Given the description of an element on the screen output the (x, y) to click on. 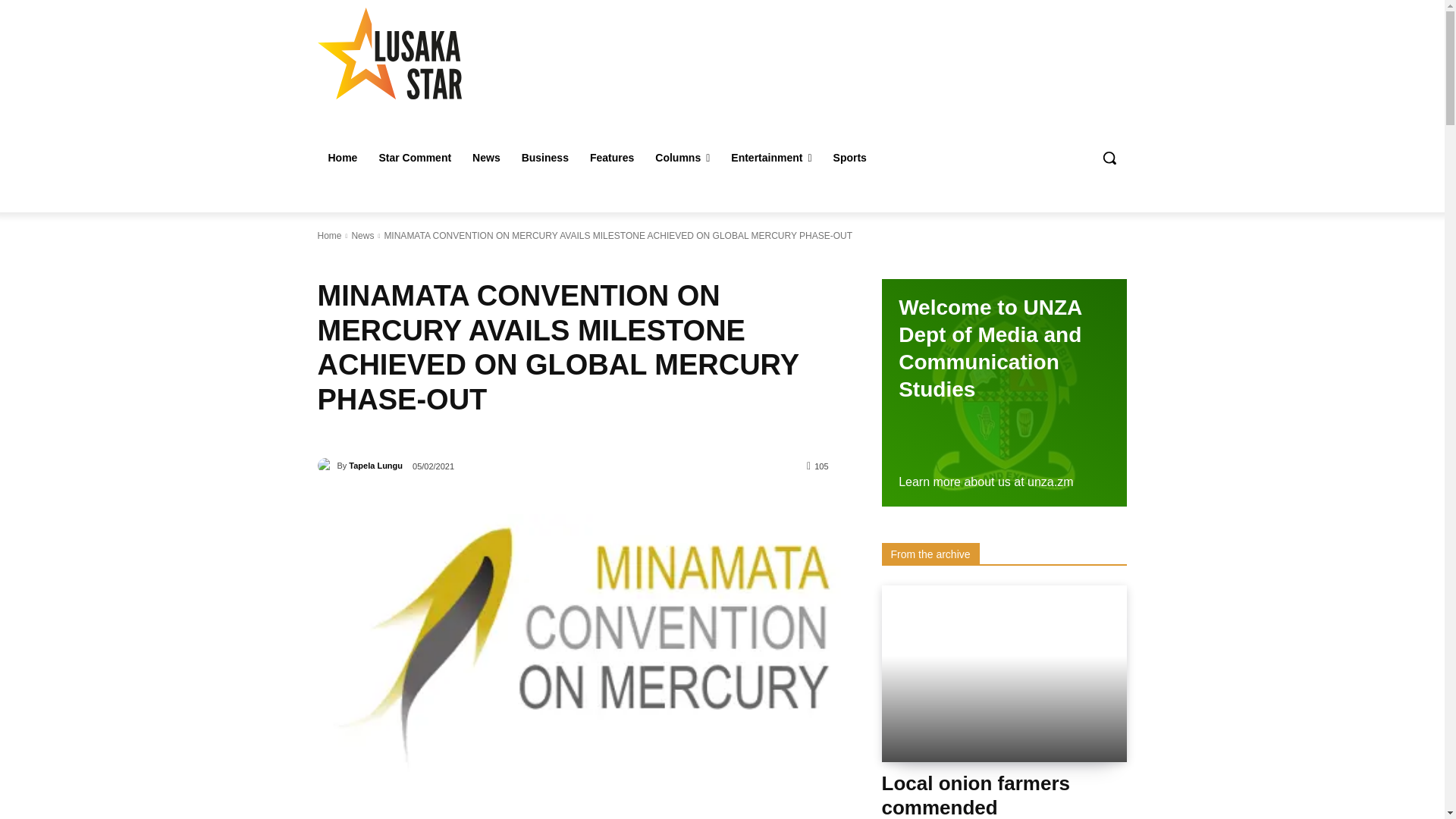
Entertainment (771, 157)
Home (342, 157)
Features (612, 157)
Lusaka Star - Service with Excellence  (425, 53)
Star Comment (414, 157)
Sports (849, 157)
Columns (682, 157)
View all posts in News (362, 235)
News (486, 157)
Business (545, 157)
